Given the description of an element on the screen output the (x, y) to click on. 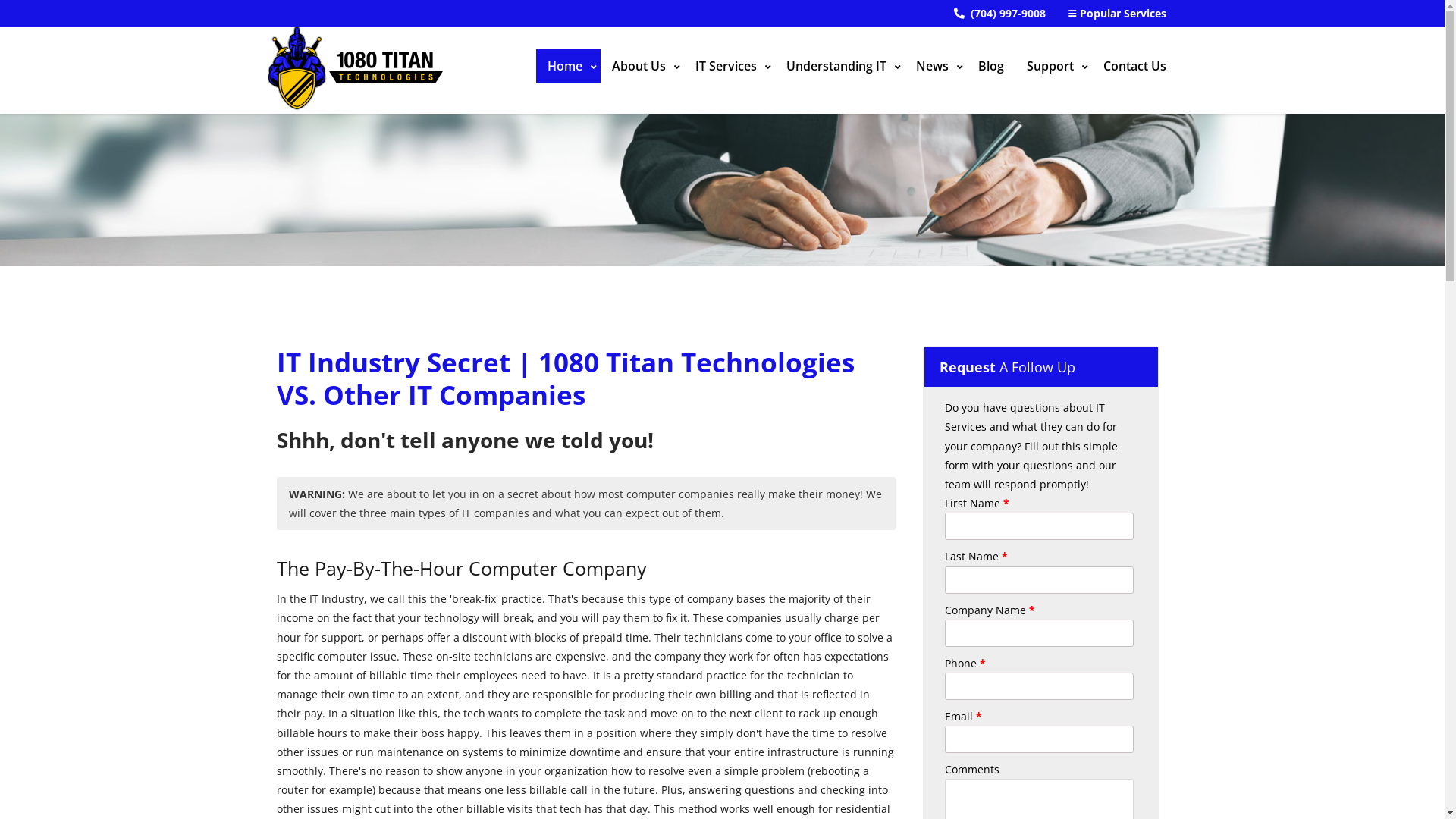
Blog Element type: text (990, 66)
Phone Element type: hover (1038, 685)
Support Element type: text (1052, 66)
Home Element type: text (567, 66)
About Us Element type: text (642, 66)
Company Name Element type: hover (1038, 632)
 Popular Services Element type: text (1116, 12)
Contact Us Element type: text (1134, 66)
First Name Element type: hover (1038, 525)
  (704) 997-9008 Element type: text (999, 13)
News Element type: text (934, 66)
Understanding IT Element type: text (839, 66)
IT Services Element type: text (729, 66)
Last Name Element type: hover (1038, 579)
Email Element type: hover (1038, 739)
